Given the description of an element on the screen output the (x, y) to click on. 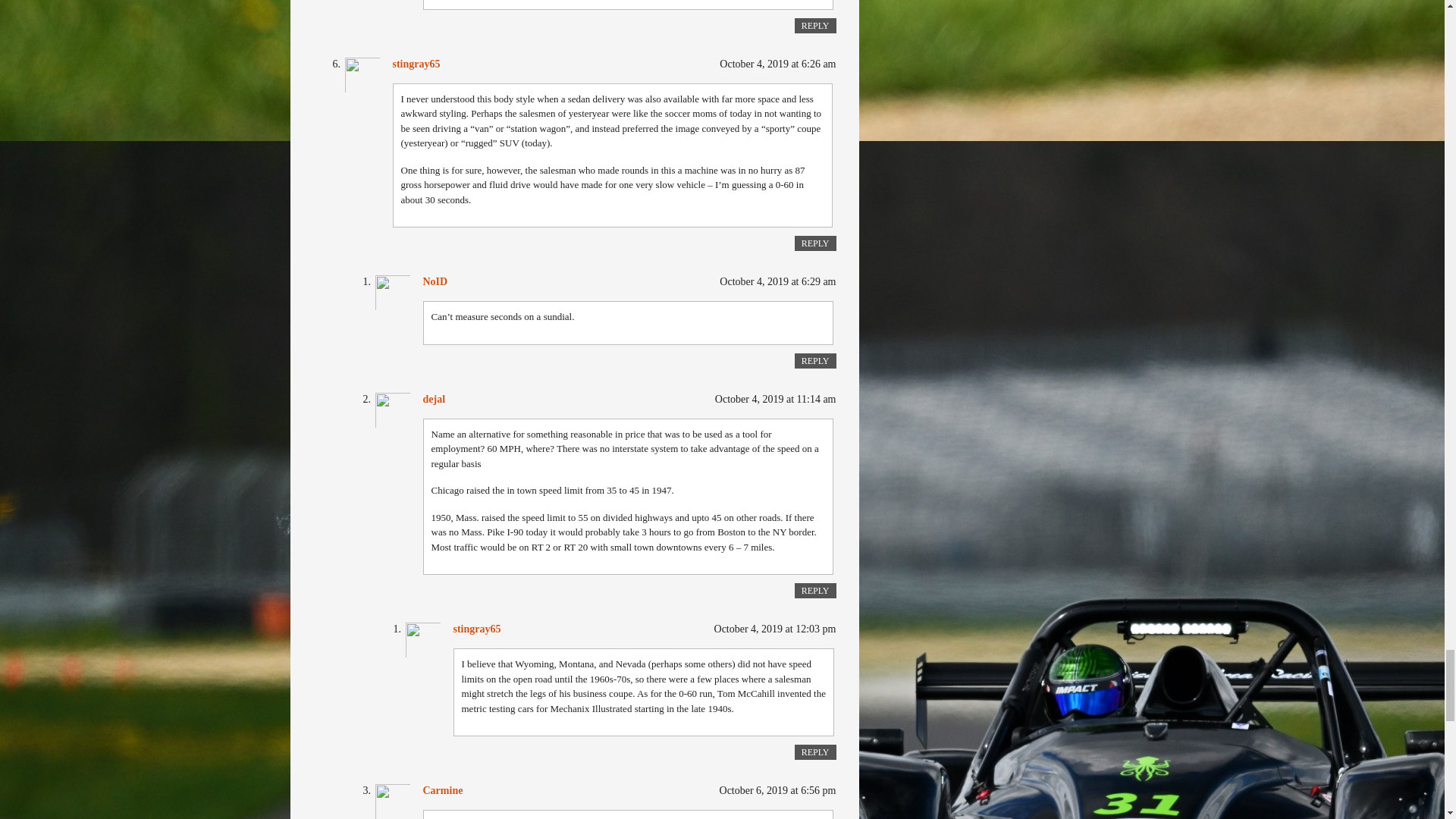
October 4, 2019 at 6:29 am (777, 281)
REPLY (814, 25)
October 6, 2019 at 6:56 pm (777, 790)
REPLY (814, 752)
REPLY (814, 360)
October 4, 2019 at 12:03 pm (774, 628)
October 4, 2019 at 11:14 am (774, 398)
REPLY (814, 242)
REPLY (814, 590)
October 4, 2019 at 6:26 am (777, 63)
